Given the description of an element on the screen output the (x, y) to click on. 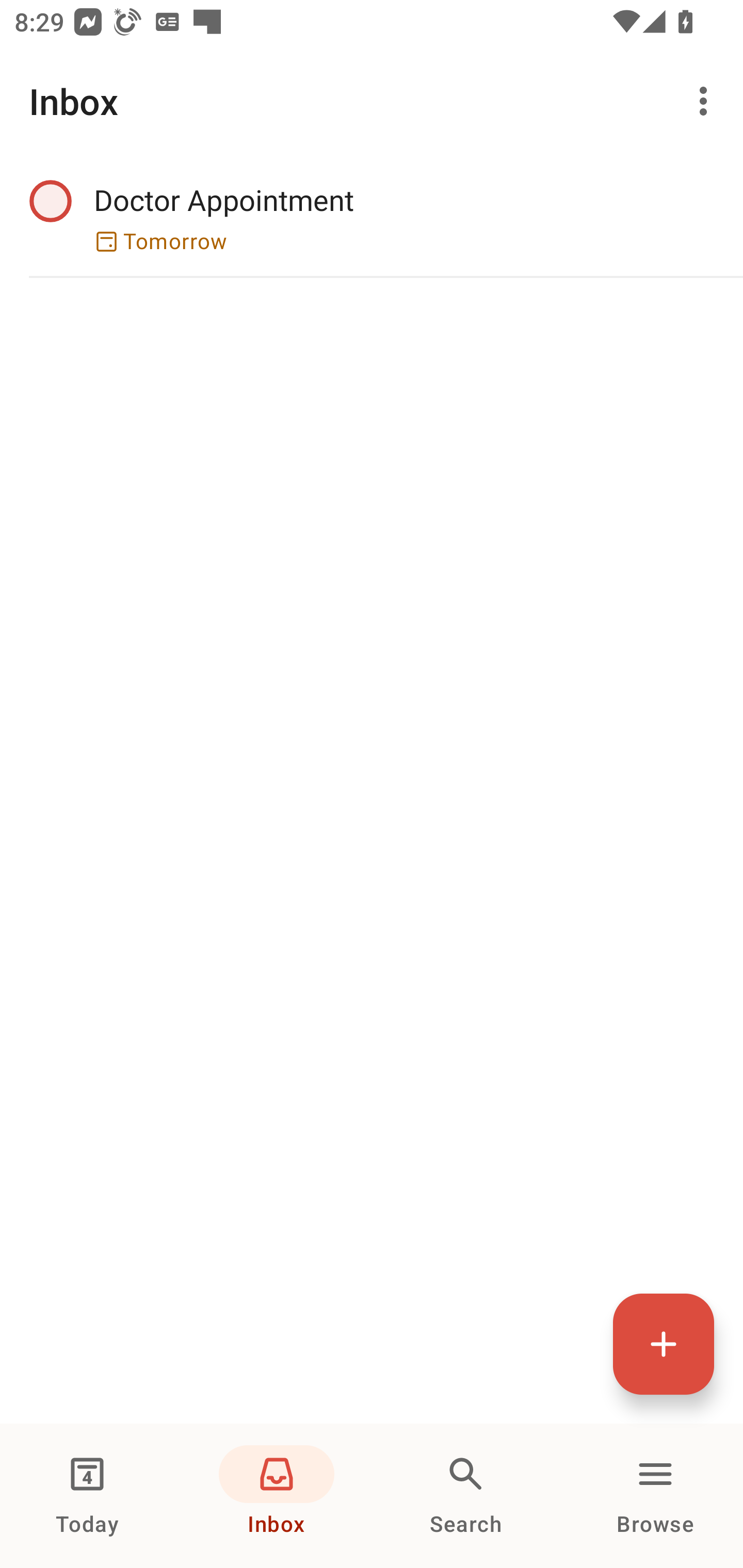
Inbox More options (371, 100)
More options (706, 101)
Complete Doctor Appointment Tomorrow (371, 216)
Complete (50, 200)
Quick add (663, 1343)
Today (87, 1495)
Search (465, 1495)
Browse (655, 1495)
